Given the description of an element on the screen output the (x, y) to click on. 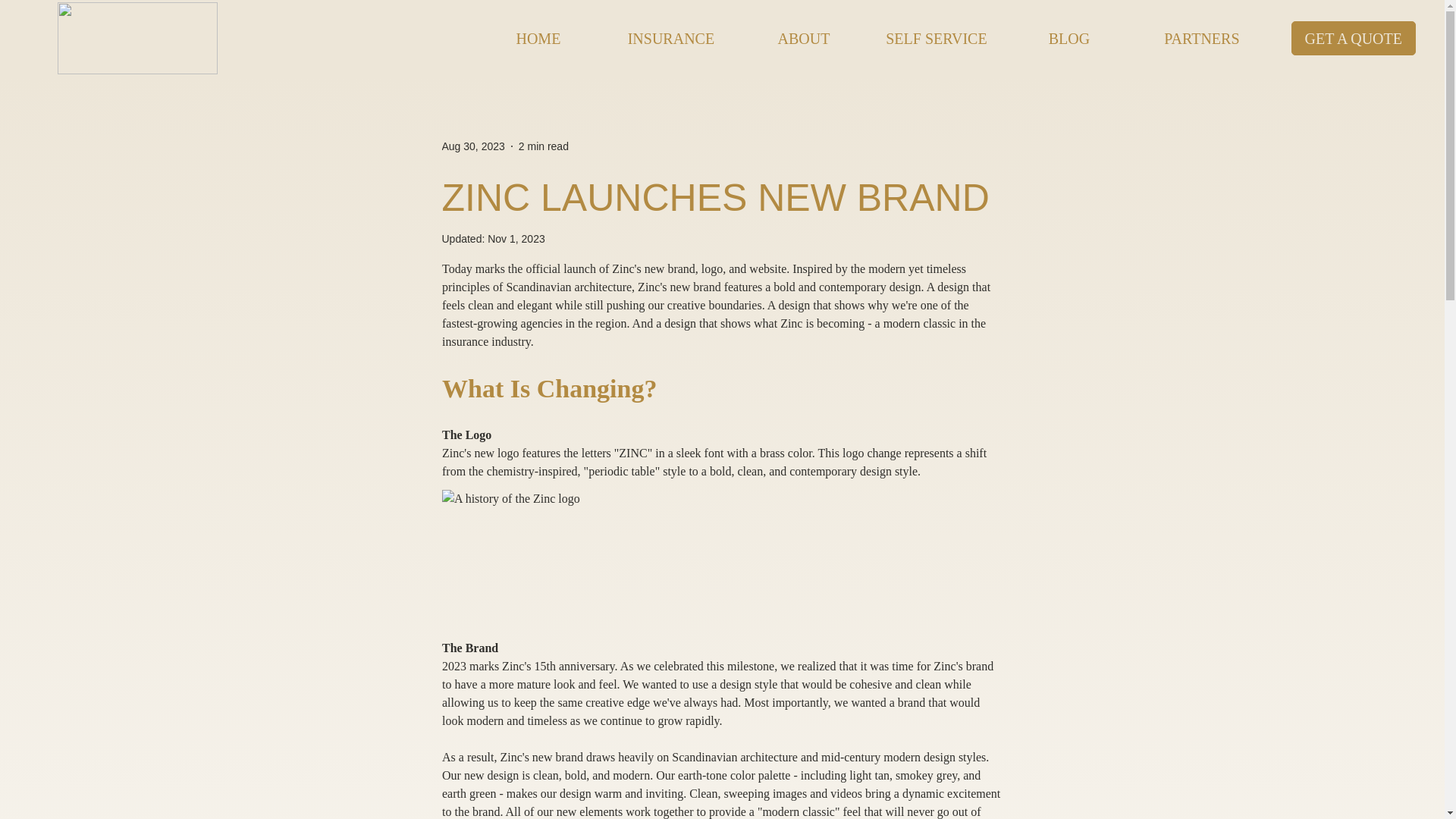
BLOG (1069, 38)
ABOUT (802, 38)
Nov 1, 2023 (515, 238)
HOME (537, 38)
GET A QUOTE (1353, 38)
PARTNERS (1201, 38)
SELF SERVICE (936, 38)
Aug 30, 2023 (472, 145)
2 min read (543, 145)
